Given the description of an element on the screen output the (x, y) to click on. 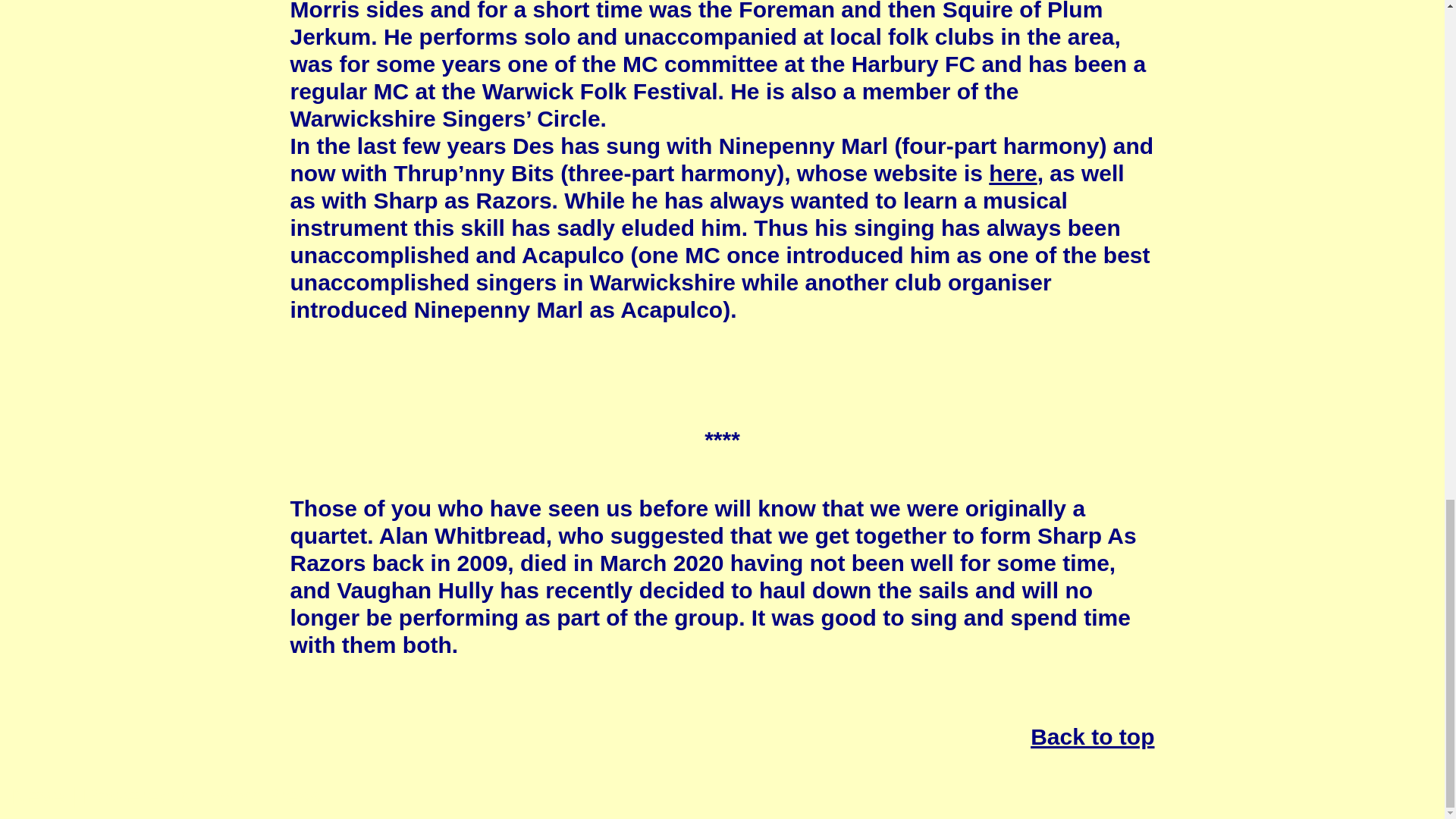
here (1012, 172)
Back to top (1092, 736)
Neve (37, 795)
WordPress (265, 795)
